Given the description of an element on the screen output the (x, y) to click on. 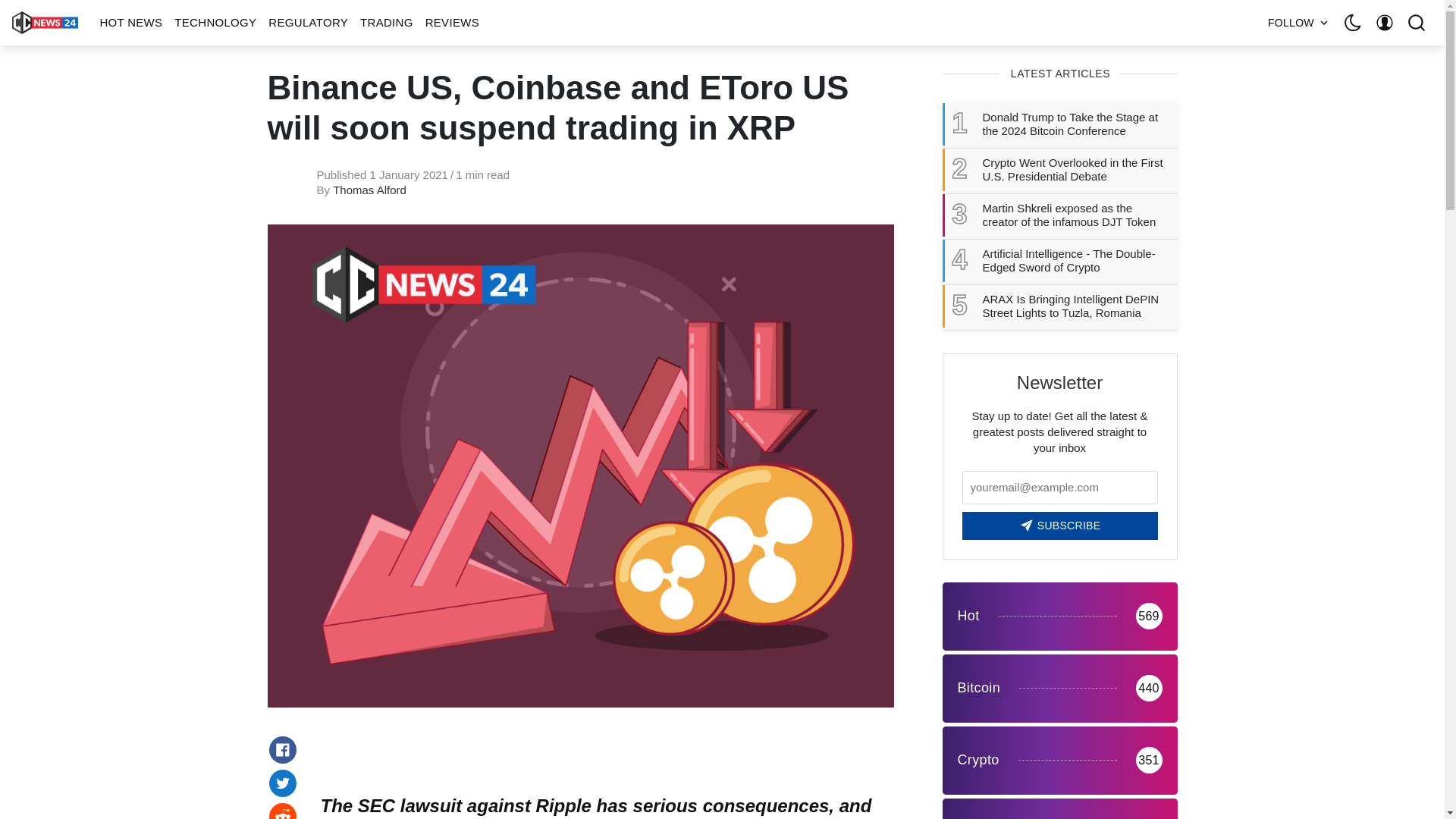
TRADING (386, 22)
hot (1059, 616)
REVIEWS (451, 22)
bitcoin (1059, 688)
Posts by Thomas Alford (369, 189)
HOT NEWS (130, 22)
REGULATORY (307, 22)
TECHNOLOGY (215, 22)
Thomas Alford (369, 189)
